Given the description of an element on the screen output the (x, y) to click on. 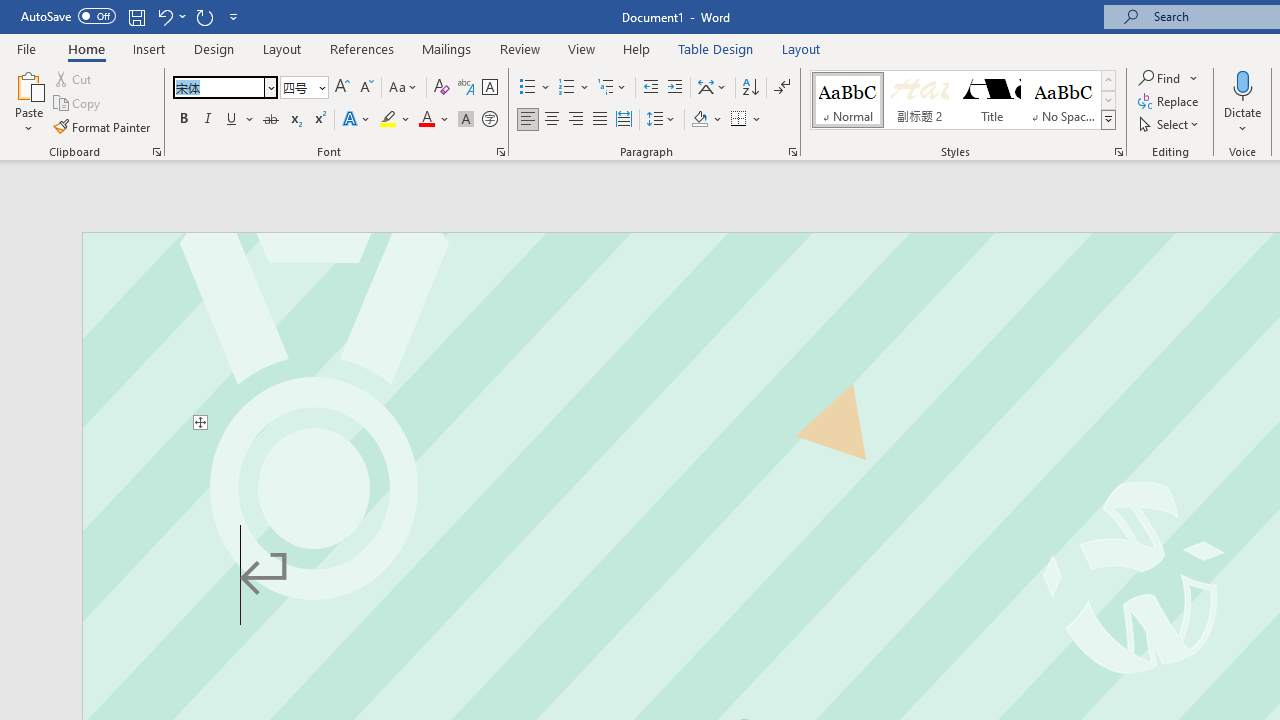
Undo Text Fill Effect (164, 15)
